Given the description of an element on the screen output the (x, y) to click on. 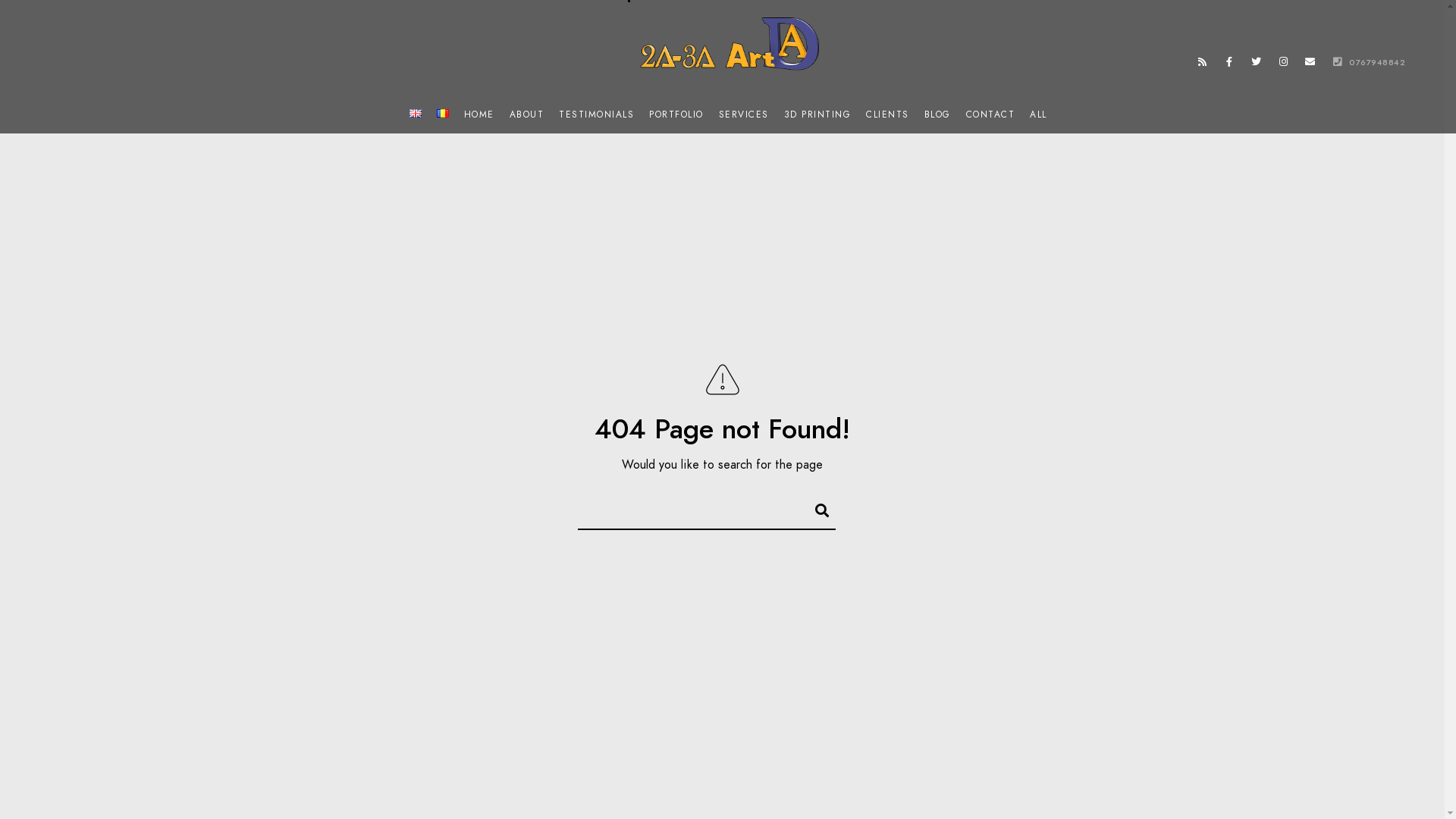
HOME Element type: text (479, 114)
ALL Element type: text (1038, 114)
CLIENTS Element type: text (887, 114)
PORTFOLIO Element type: text (676, 114)
Search Element type: hover (814, 507)
3D PRINTING Element type: text (817, 114)
TESTIMONIALS Element type: text (595, 114)
SERVICES Element type: text (743, 114)
BLOG Element type: text (936, 114)
0767948842 Element type: text (1365, 62)
CONTACT Element type: text (990, 114)
ABOUT Element type: text (526, 114)
